Given the description of an element on the screen output the (x, y) to click on. 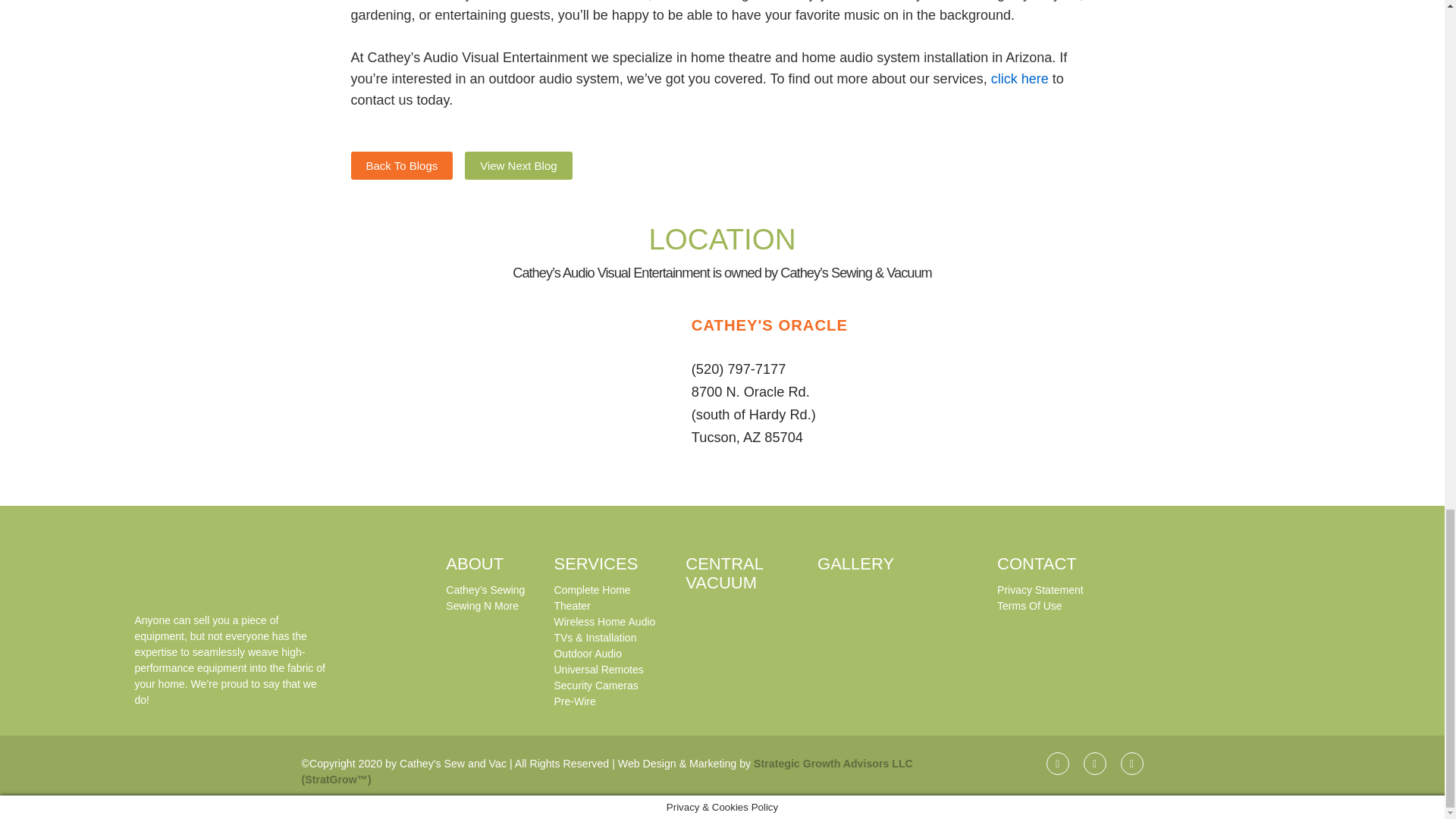
Wireless Home Audio (604, 621)
Complete Home Theater (591, 597)
click here (1019, 78)
Outdoor Audio (587, 653)
Sewing N More (481, 605)
Security Cameras (595, 685)
Pre-Wire (574, 701)
Back To Blogs (401, 165)
View Next Blog (518, 165)
CENTRAL VACUUM (723, 573)
Privacy Statement (1040, 589)
Universal Remotes (598, 669)
CONTACT (1037, 563)
GALLERY (854, 563)
